Given the description of an element on the screen output the (x, y) to click on. 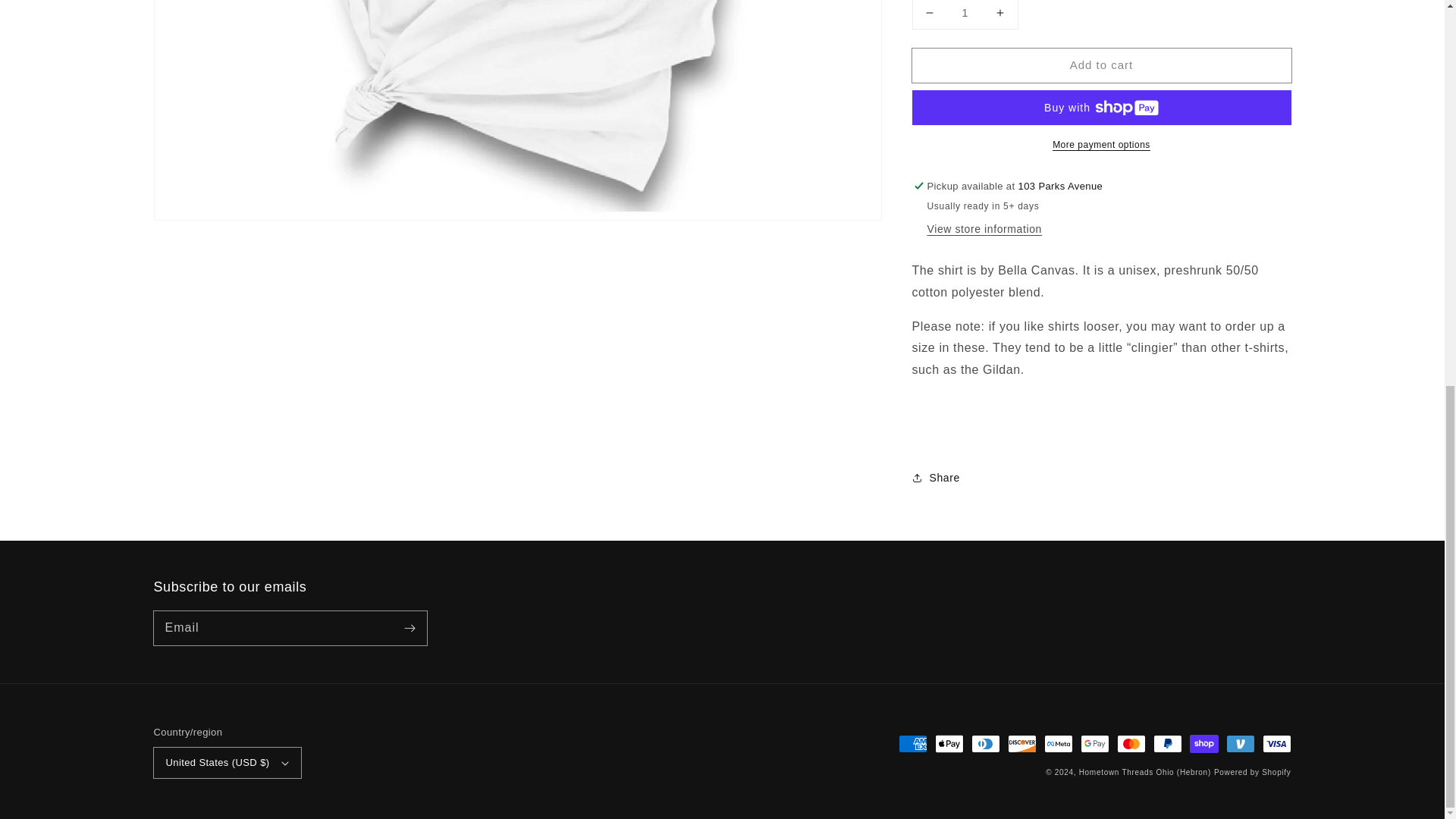
1 (964, 8)
